Given the description of an element on the screen output the (x, y) to click on. 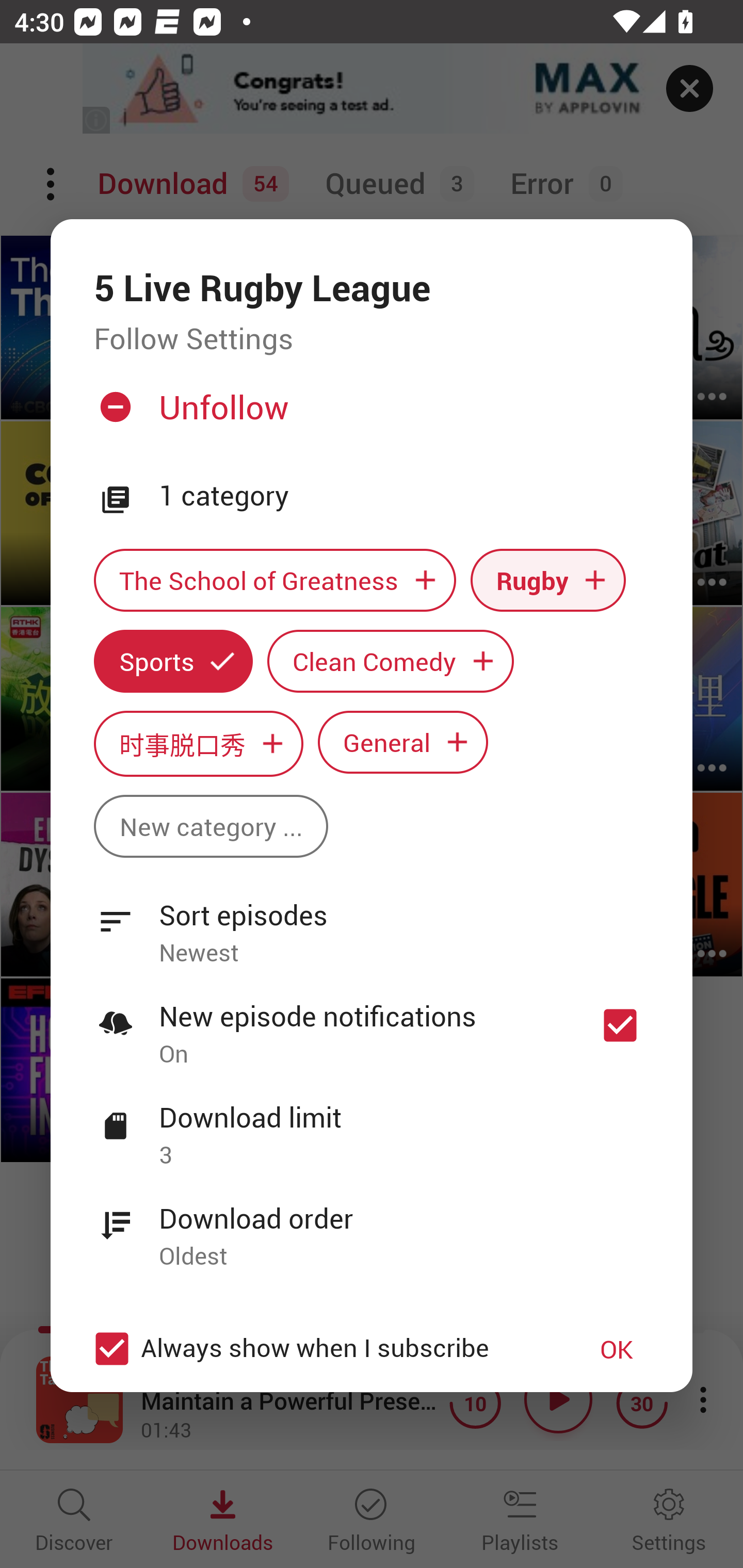
Unfollow (369, 415)
1 category (404, 495)
The School of Greatness (274, 579)
Rugby (547, 579)
Sports (172, 661)
Clean Comedy (390, 661)
时事脱口秀 (198, 743)
General (403, 741)
New category ... (210, 825)
Sort episodes Newest (371, 922)
New episode notifications (620, 1025)
Download limit 3 (371, 1125)
Download order Oldest (371, 1226)
OK (616, 1349)
Always show when I subscribe (320, 1349)
